Given the description of an element on the screen output the (x, y) to click on. 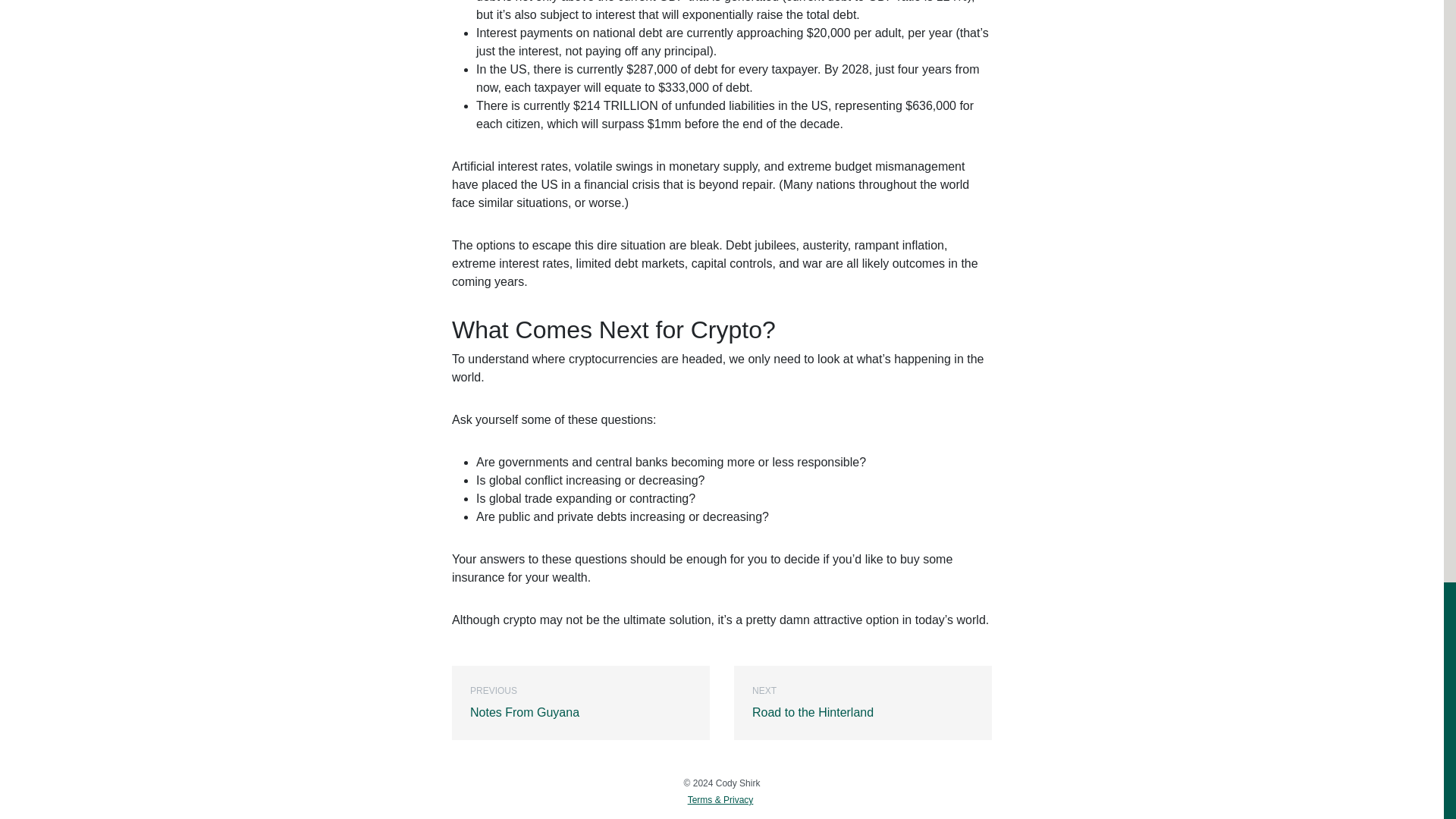
Notes From Guyana (580, 702)
Road to the Hinterland (862, 702)
